Given the description of an element on the screen output the (x, y) to click on. 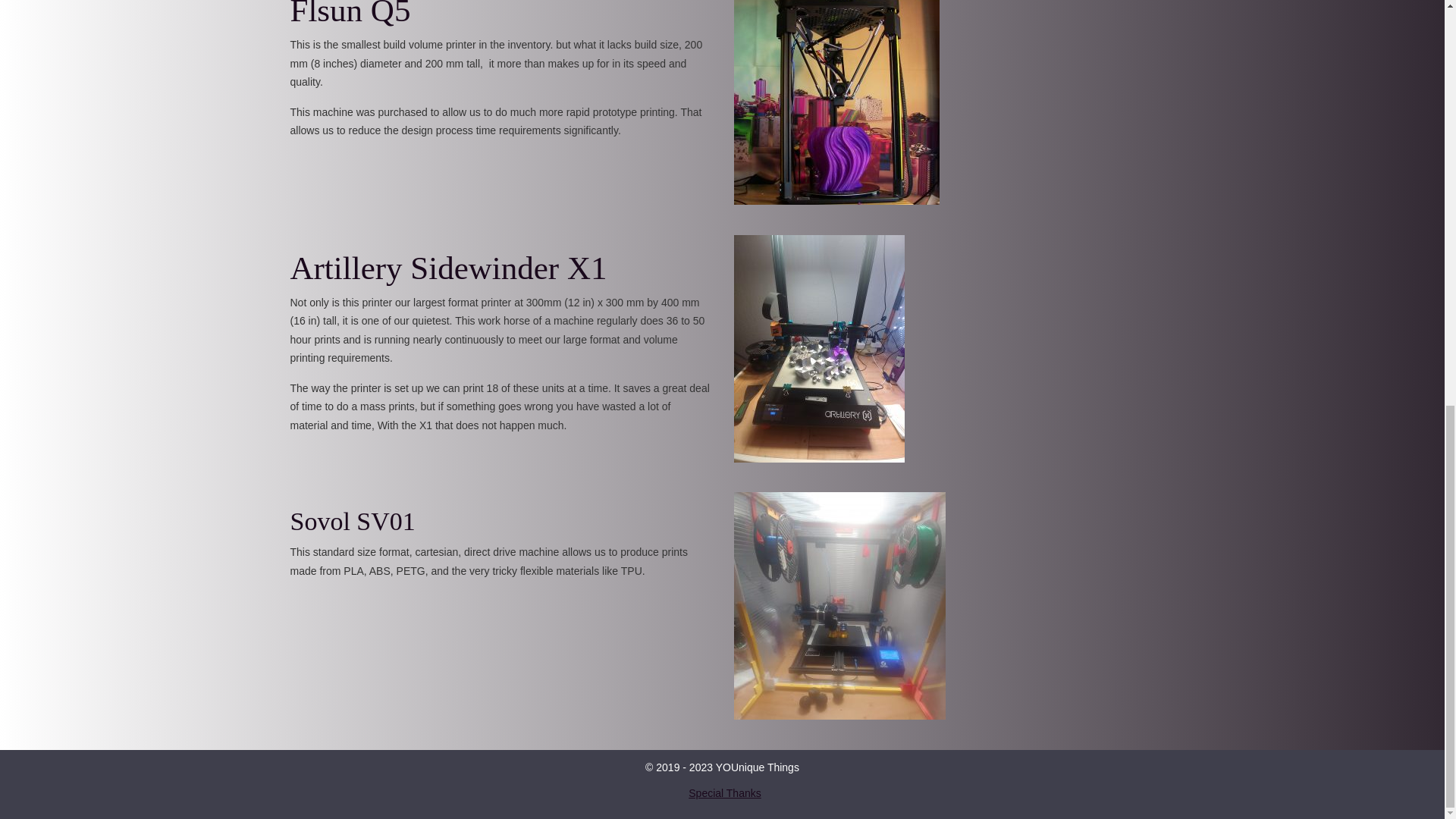
Special Thanks (724, 793)
